Given the description of an element on the screen output the (x, y) to click on. 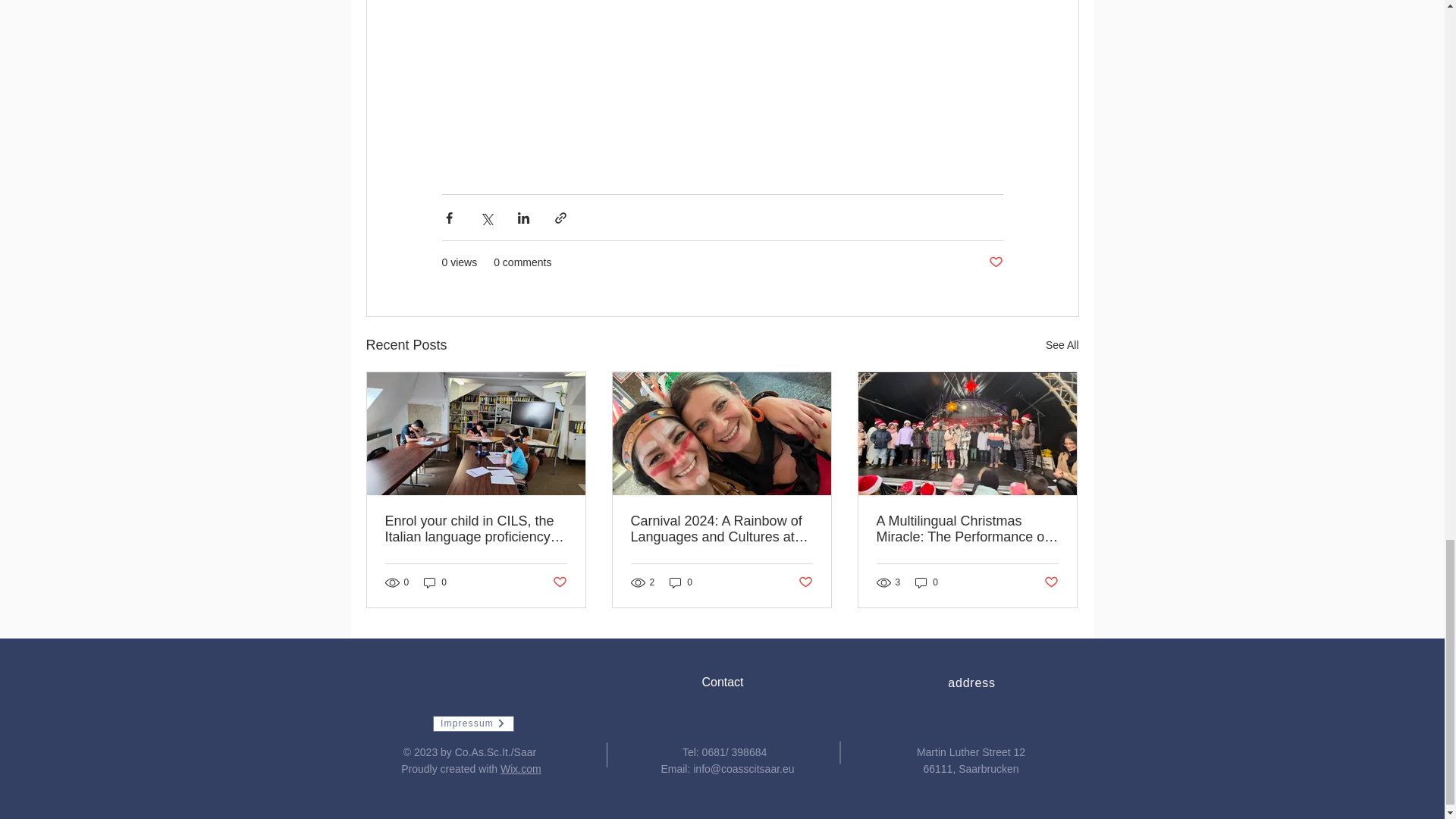
Post not marked as liked (558, 582)
Post not marked as liked (995, 262)
0 (681, 582)
Post not marked as liked (804, 582)
0 (435, 582)
See All (1061, 345)
